Given the description of an element on the screen output the (x, y) to click on. 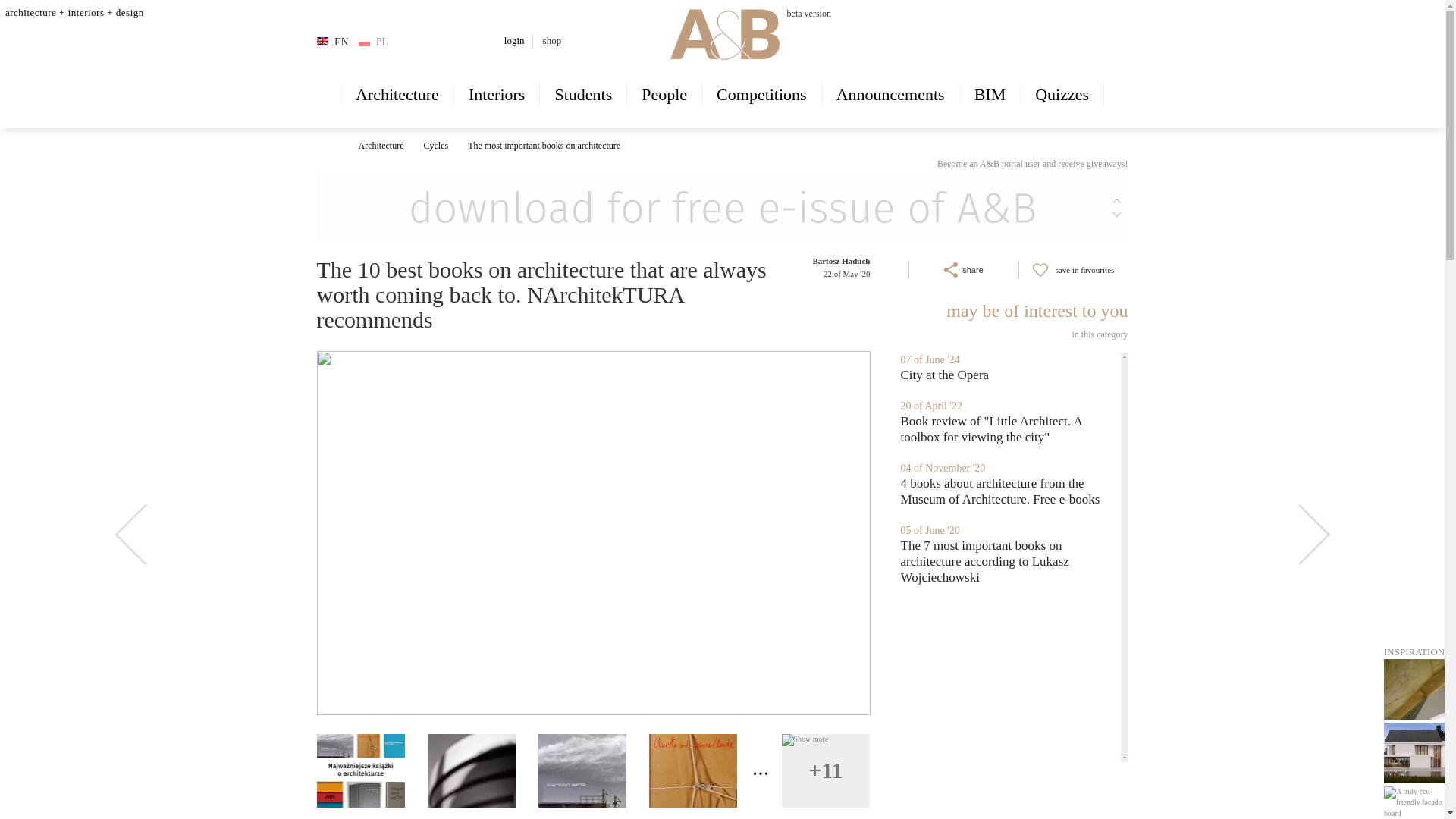
Announcements (889, 94)
Competitions (761, 94)
shop (552, 40)
Interiors (496, 94)
Architecture (397, 94)
People (664, 94)
login (513, 40)
Quizzes (1062, 94)
PL (374, 42)
Students (582, 94)
